Given the description of an element on the screen output the (x, y) to click on. 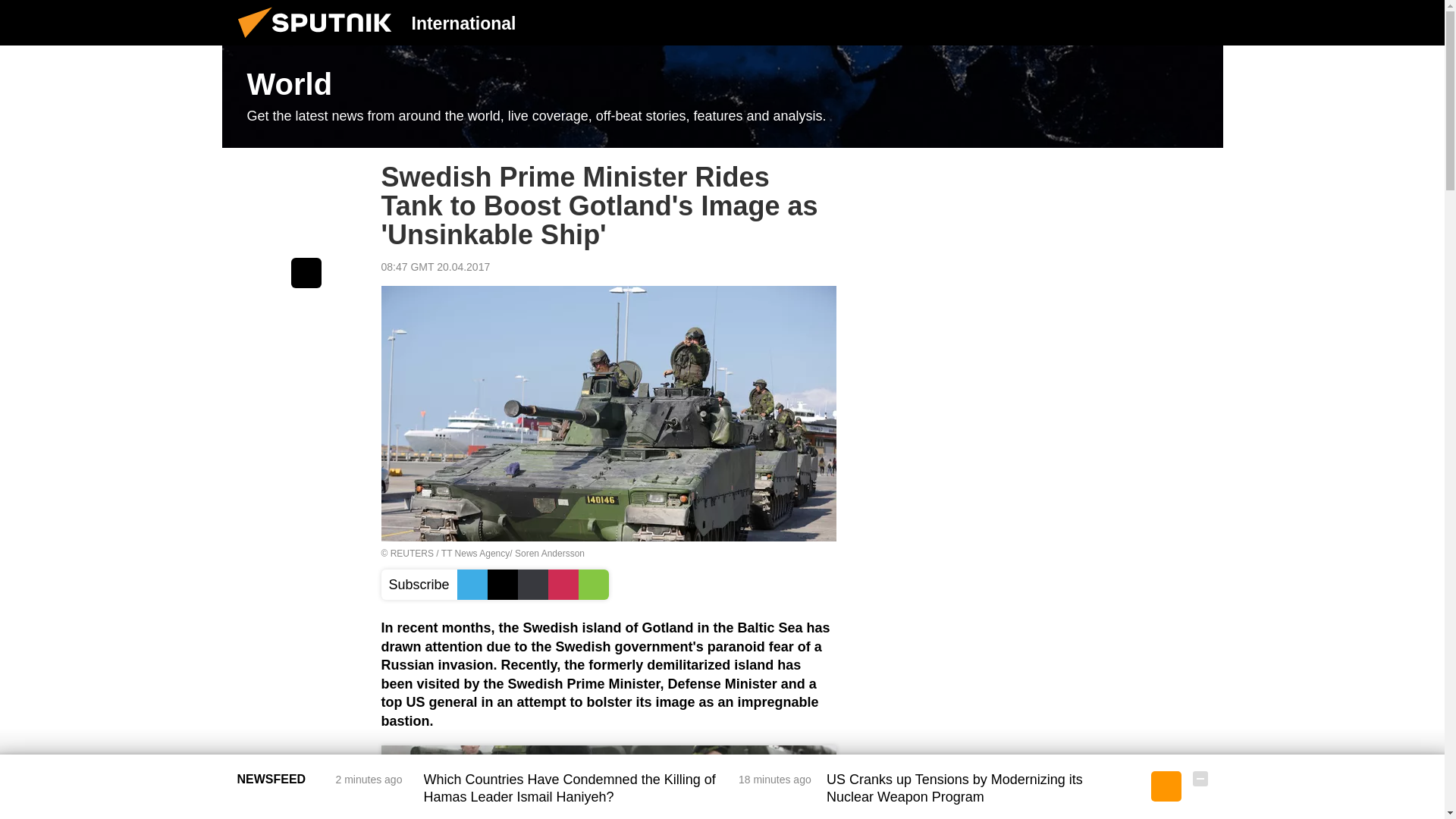
Authorization (1123, 22)
Sputnik International (319, 41)
World (722, 96)
Chats (1199, 22)
